Given the description of an element on the screen output the (x, y) to click on. 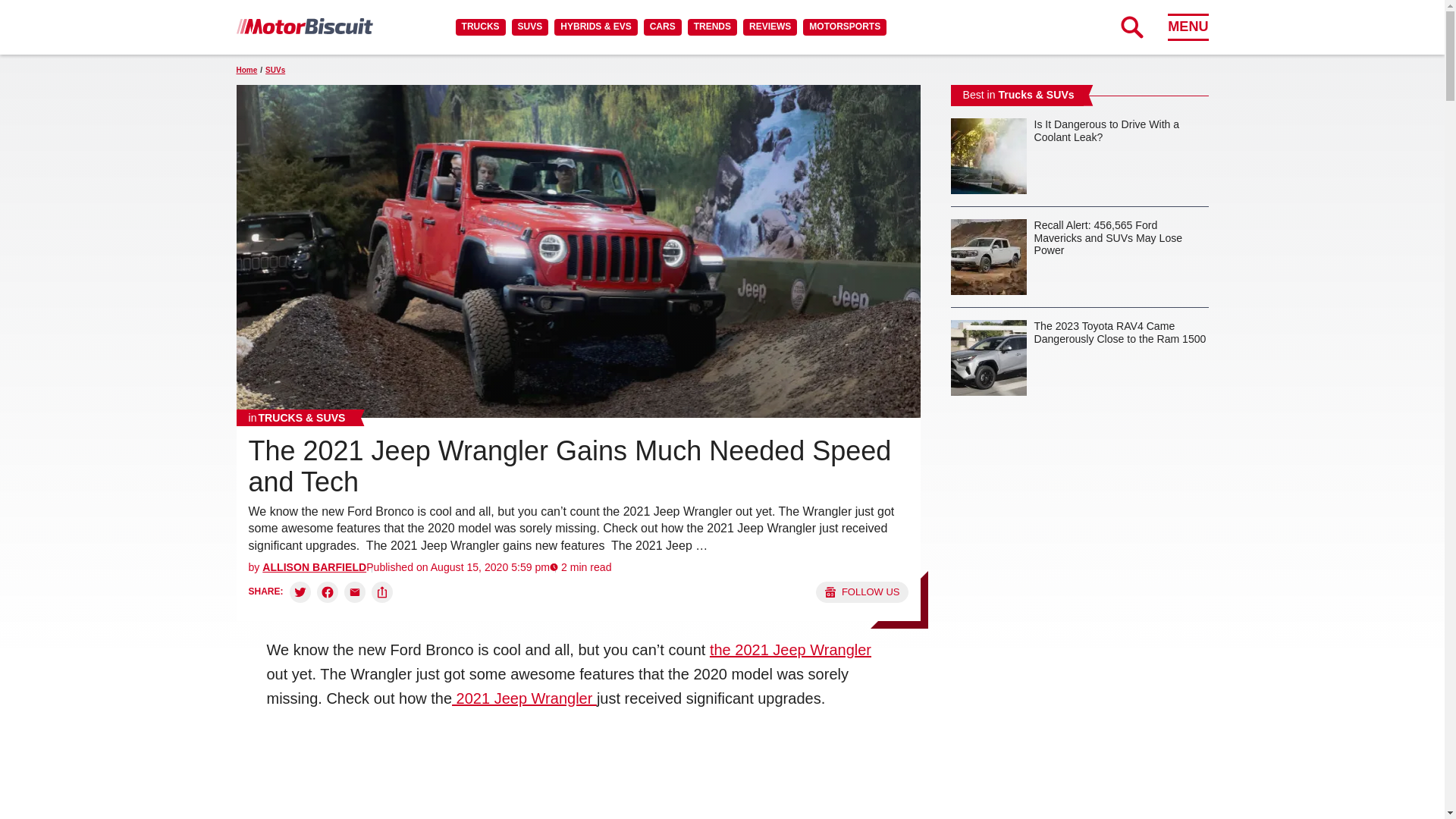
REVIEWS (769, 26)
TRENDS (711, 26)
Expand Search (1131, 26)
MENU (1187, 26)
MOTORSPORTS (844, 26)
TRUCKS (480, 26)
SUVS (530, 26)
Copy link and share:  (382, 591)
Follow us on Google News (861, 591)
